Given the description of an element on the screen output the (x, y) to click on. 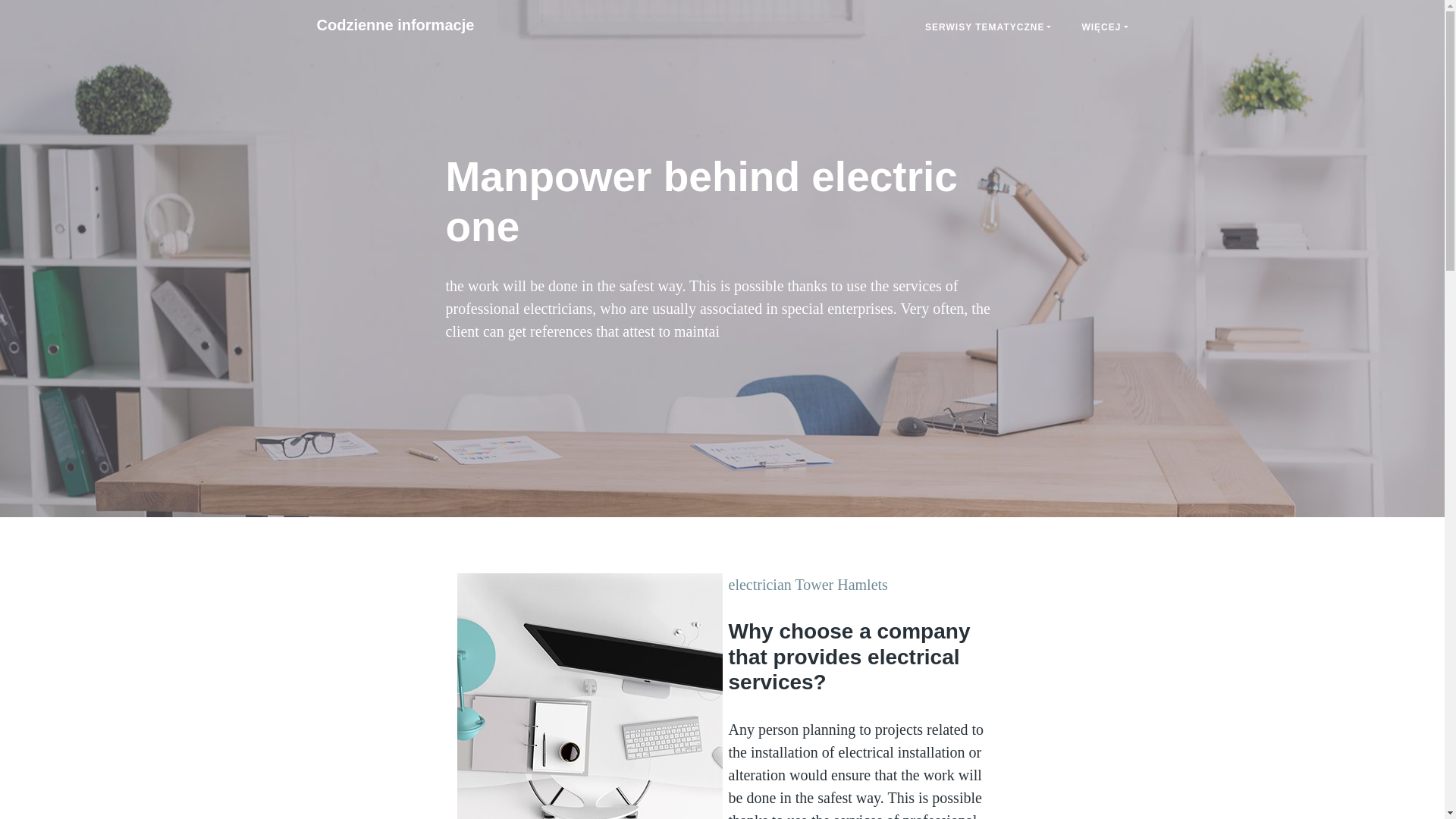
SERWISY TEMATYCZNE (987, 27)
Codzienne informacje (395, 24)
Manpower behind electric one (395, 24)
